Given the description of an element on the screen output the (x, y) to click on. 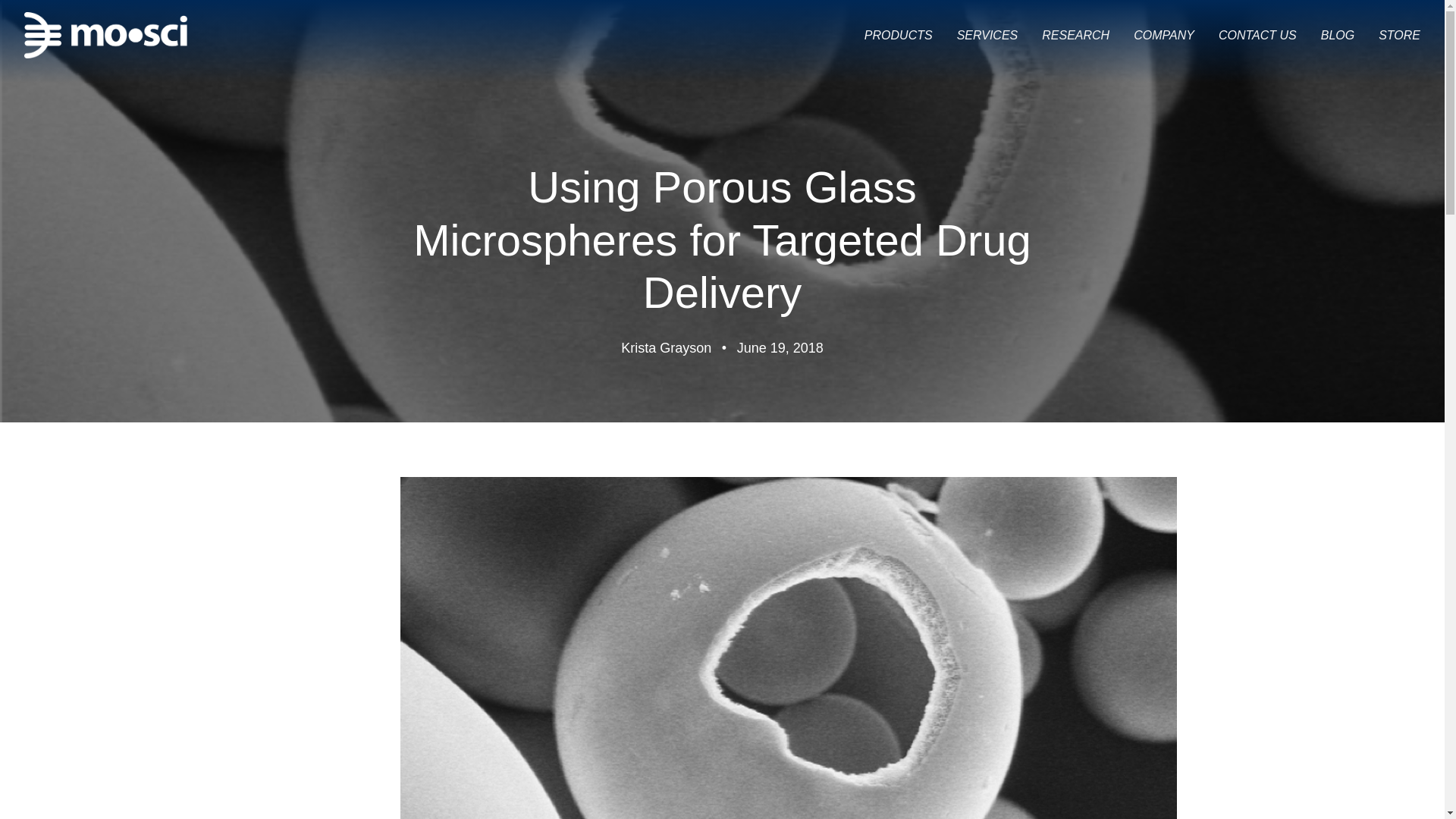
BLOG (1337, 35)
SERVICES (986, 35)
CONTACT US (1257, 35)
COMPANY (1163, 35)
STORE (1399, 35)
PRODUCTS (898, 35)
RESEARCH (1075, 35)
